Given the description of an element on the screen output the (x, y) to click on. 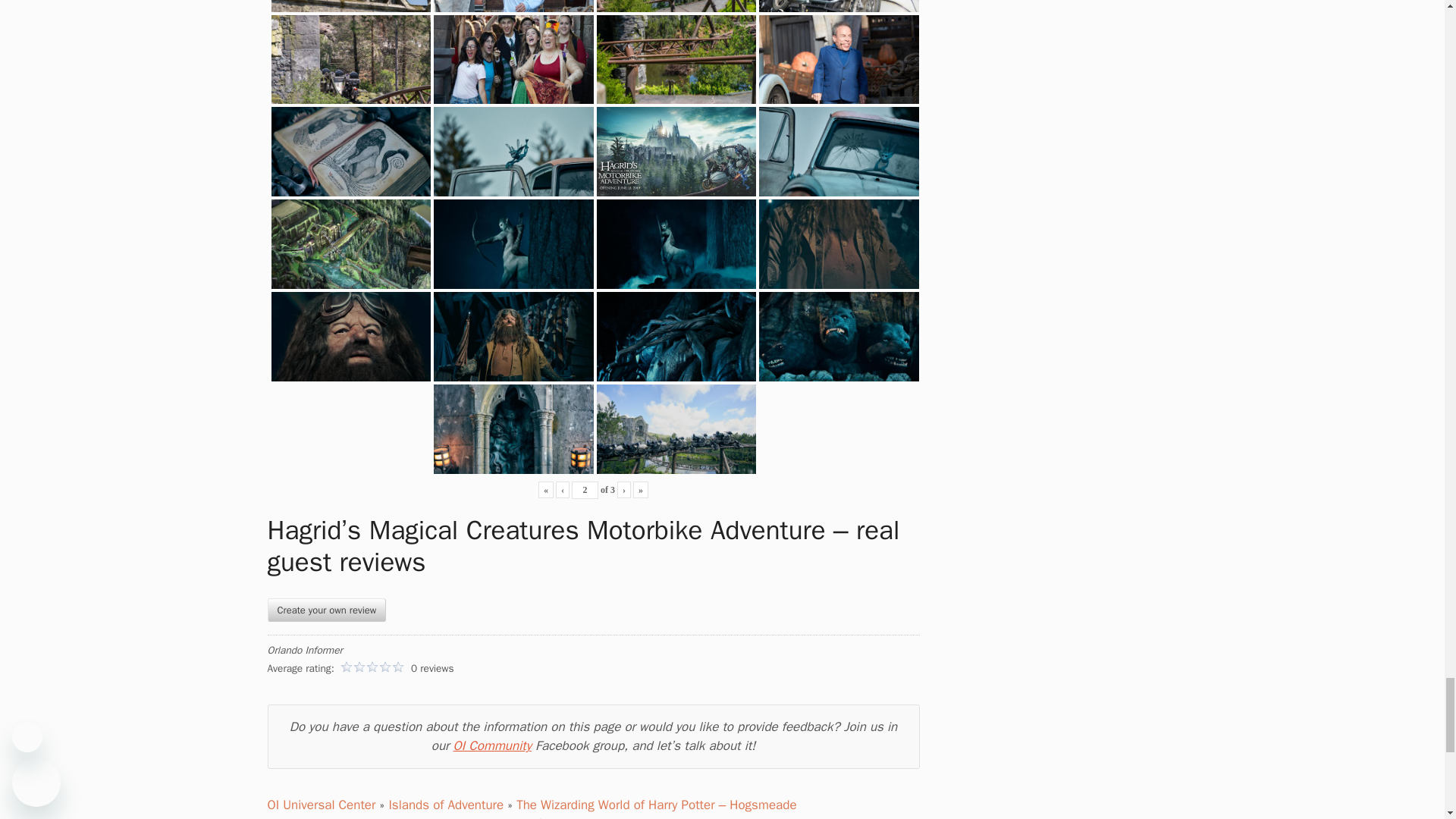
Hagrid's Magical Creatures Motorbike Adventure (350, 13)
Hagrid's Magical Creatures Motorbike Adventure (513, 49)
Hagrid's Magical Creatures Motorbike Adventure (675, 13)
2 (585, 489)
Hagrid's Magical Creatures Motorbike Adventure (838, 15)
Hagrid's Magical Creatures Motorbike Adventure (513, 3)
